Given the description of an element on the screen output the (x, y) to click on. 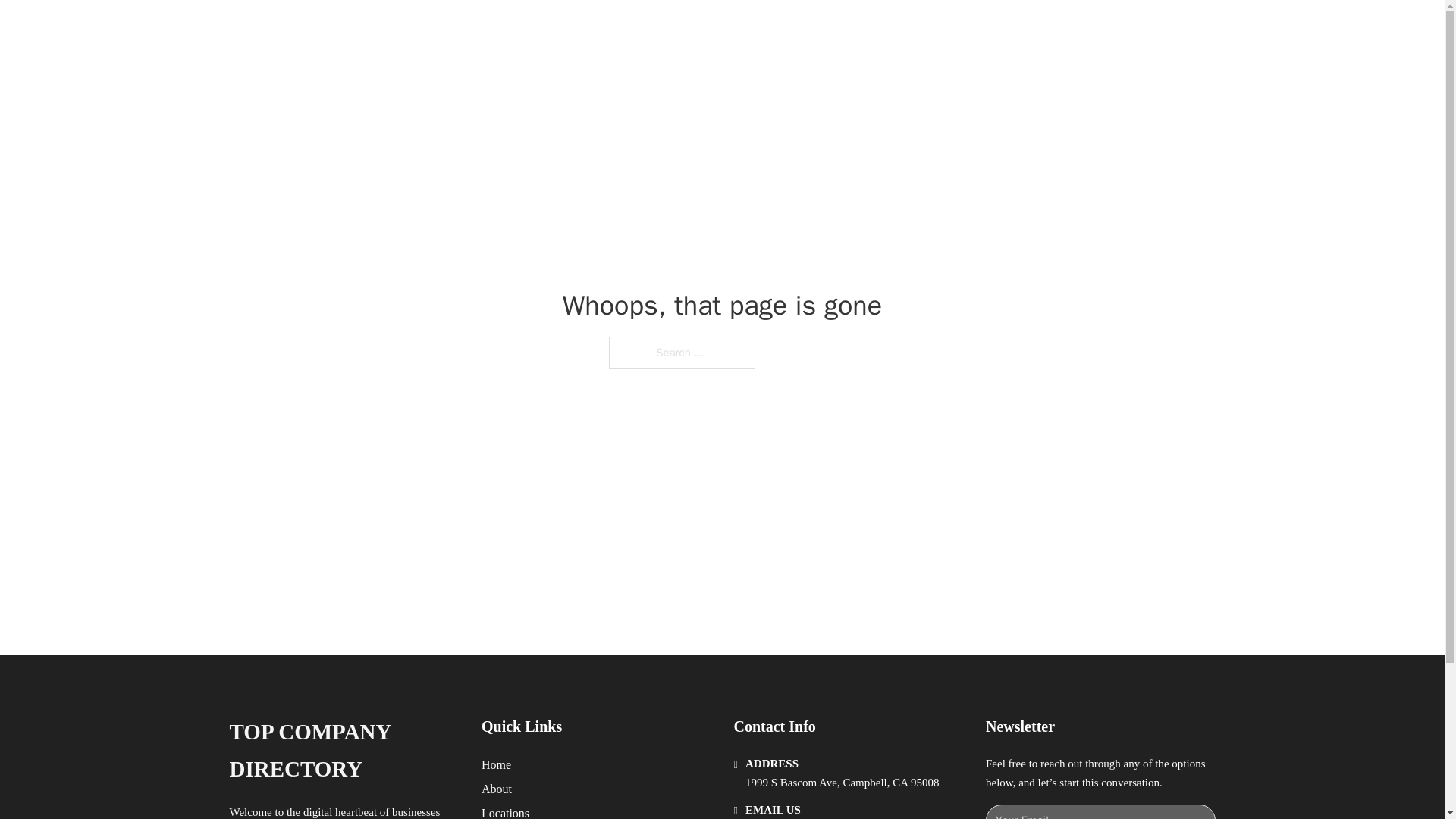
TOP COMPANY DIRECTORY (441, 28)
TOP COMPANY DIRECTORY (343, 750)
LOCATIONS (990, 29)
Home (496, 764)
About (496, 788)
HOME (919, 29)
Locations (505, 811)
